Given the description of an element on the screen output the (x, y) to click on. 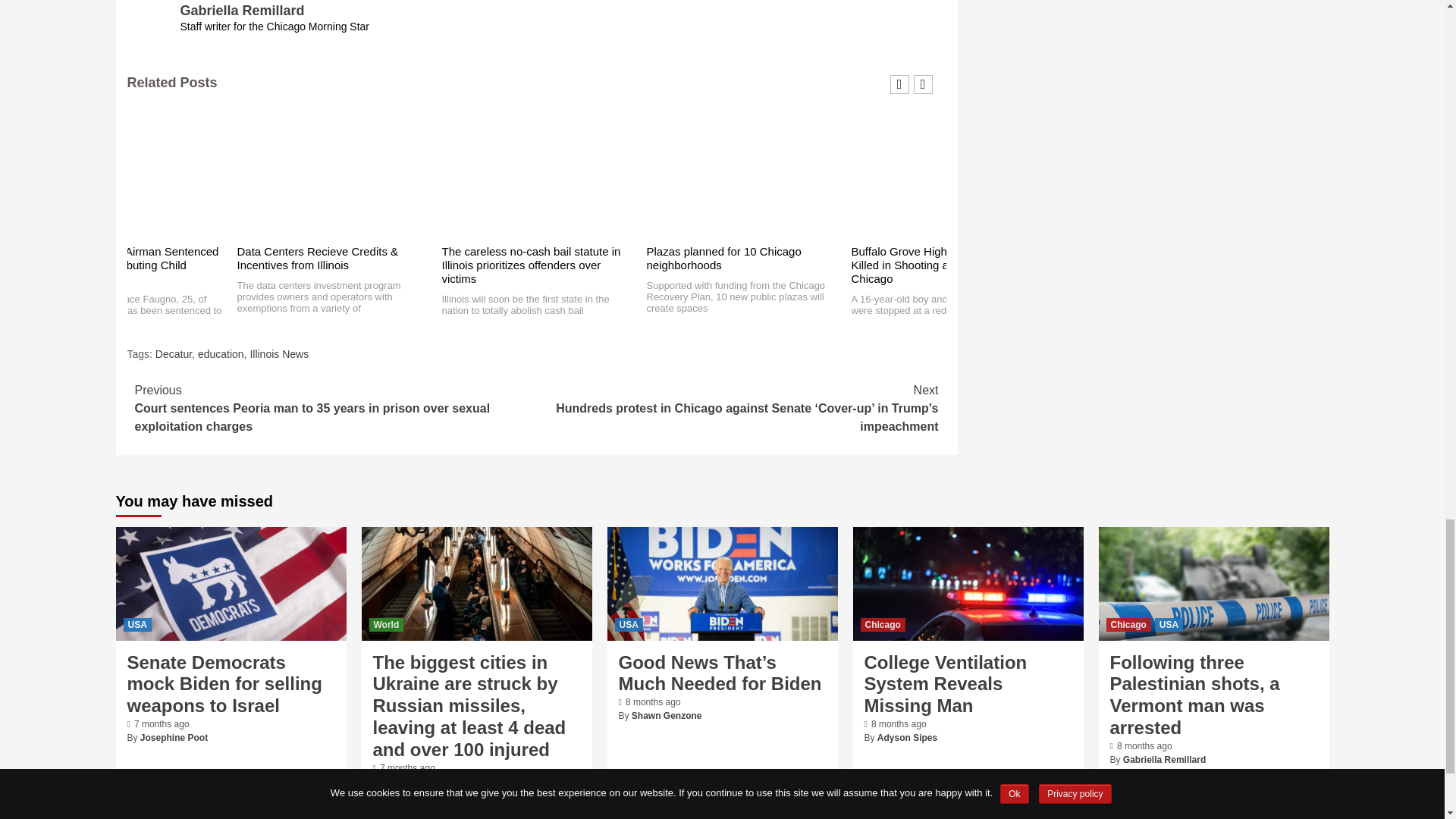
Gabriella Remillard (242, 10)
Plazas planned for 10 Chicago neighborhoods (723, 257)
